Given the description of an element on the screen output the (x, y) to click on. 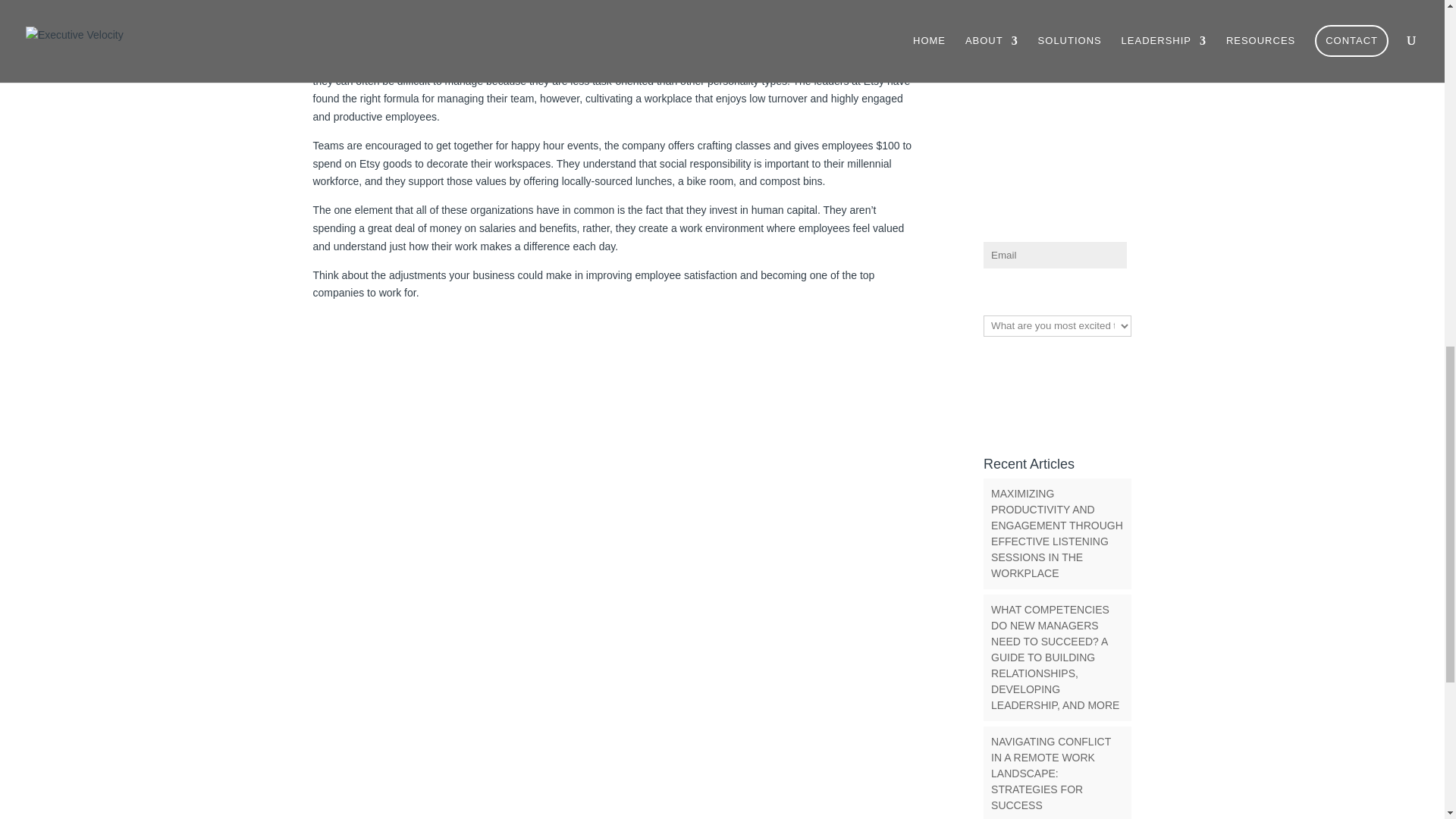
SIGN UP NOW! (1054, 359)
Read More (339, 18)
